Given the description of an element on the screen output the (x, y) to click on. 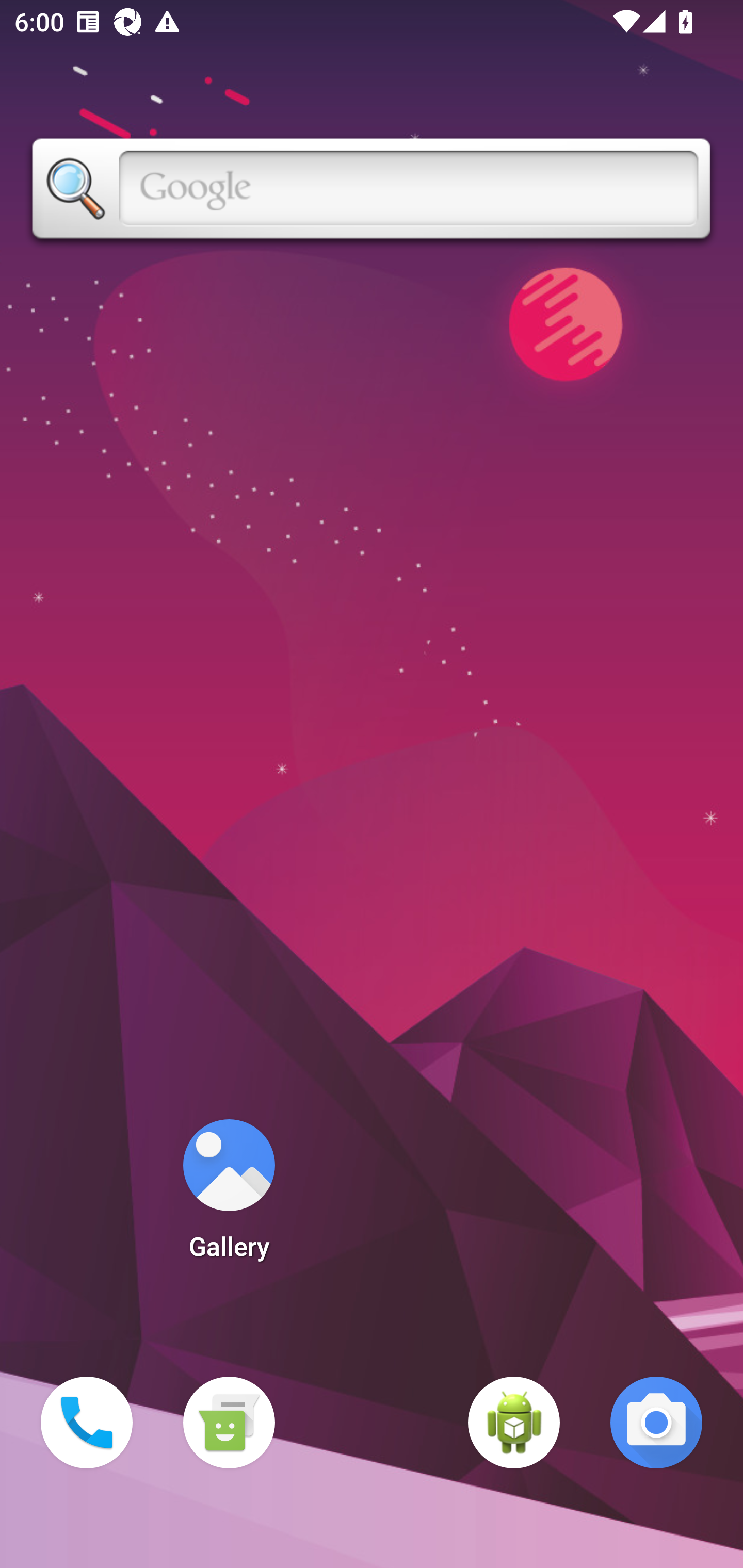
Gallery (228, 1195)
Phone (86, 1422)
Messaging (228, 1422)
WebView Browser Tester (513, 1422)
Camera (656, 1422)
